Given the description of an element on the screen output the (x, y) to click on. 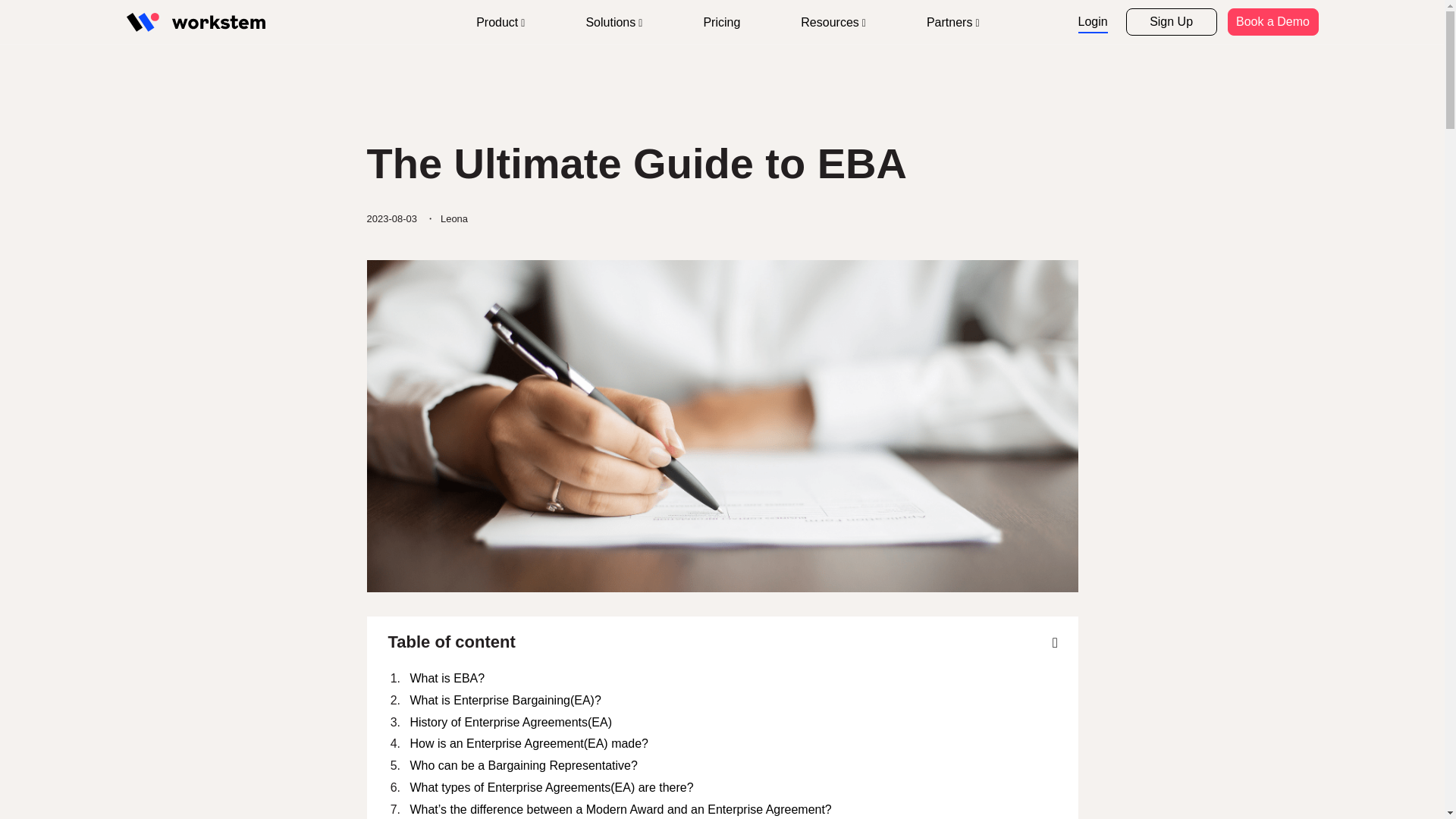
Pricing (721, 22)
Skip to content (300, 5)
Skip to content (300, 5)
Sign Up (1171, 22)
Login (1093, 22)
Solutions (613, 22)
Workstem Australia (194, 22)
Resources (833, 22)
Product (499, 22)
Who can be a Bargaining Representative? (733, 766)
